Given the description of an element on the screen output the (x, y) to click on. 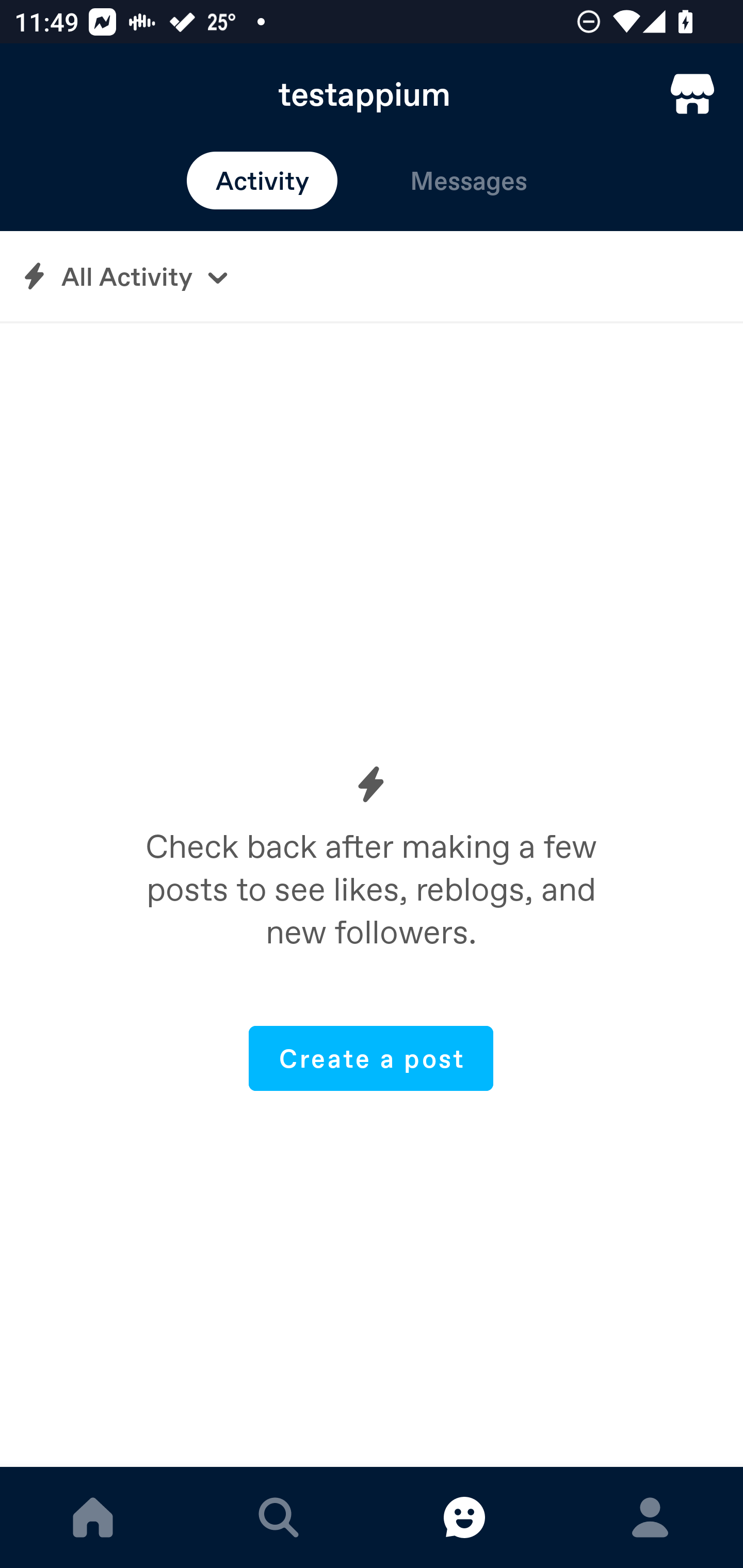
testappium (371, 93)
TumblrMart (692, 94)
Messages Messages Messages (468, 181)
All Activity (371, 276)
Create a post (370, 1058)
DASHBOARD (92, 1517)
EXPLORE (278, 1517)
MESSAGES (464, 1517)
ACCOUNT (650, 1517)
